Given the description of an element on the screen output the (x, y) to click on. 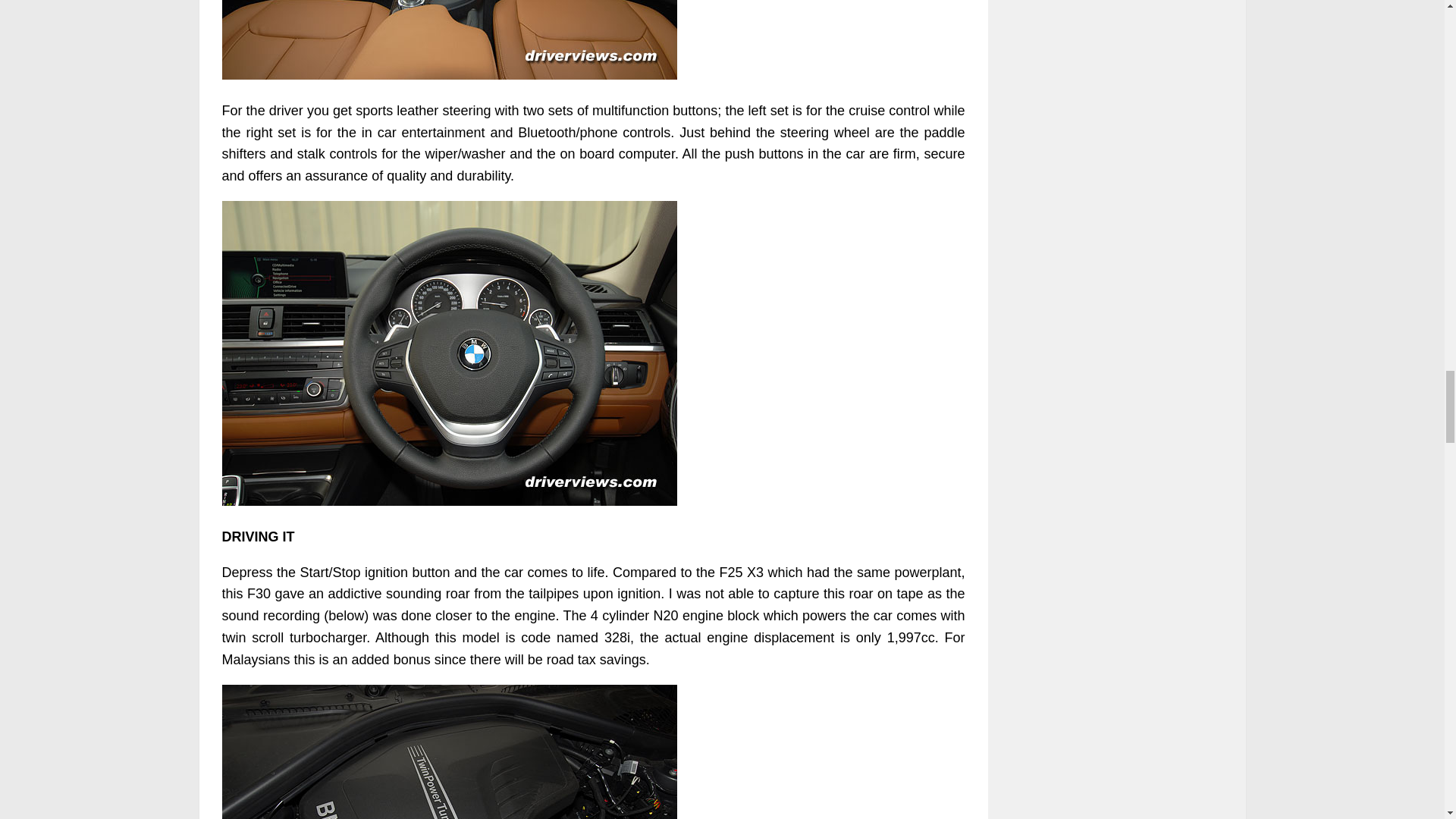
BMW 328i (449, 39)
BMW 328i (449, 751)
